Given the description of an element on the screen output the (x, y) to click on. 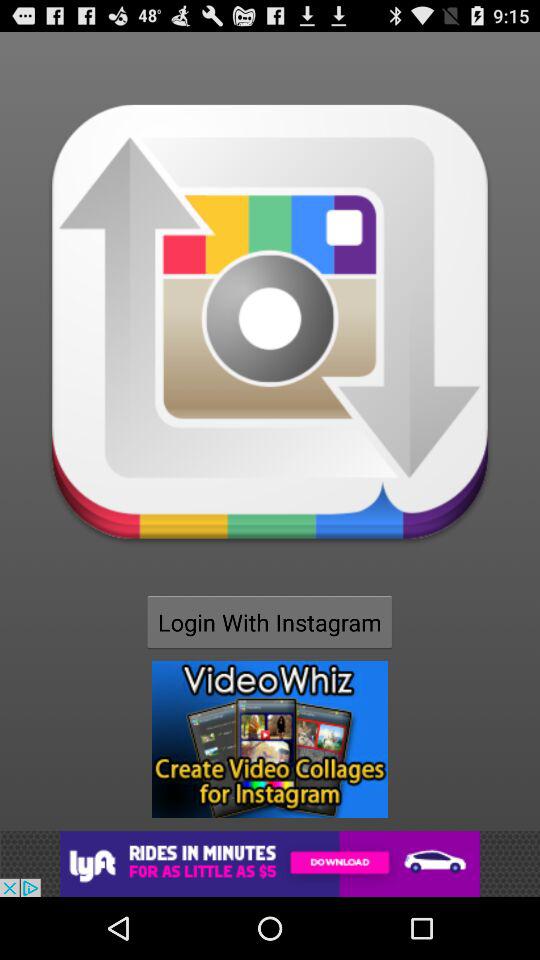
advertisements image (269, 739)
